Given the description of an element on the screen output the (x, y) to click on. 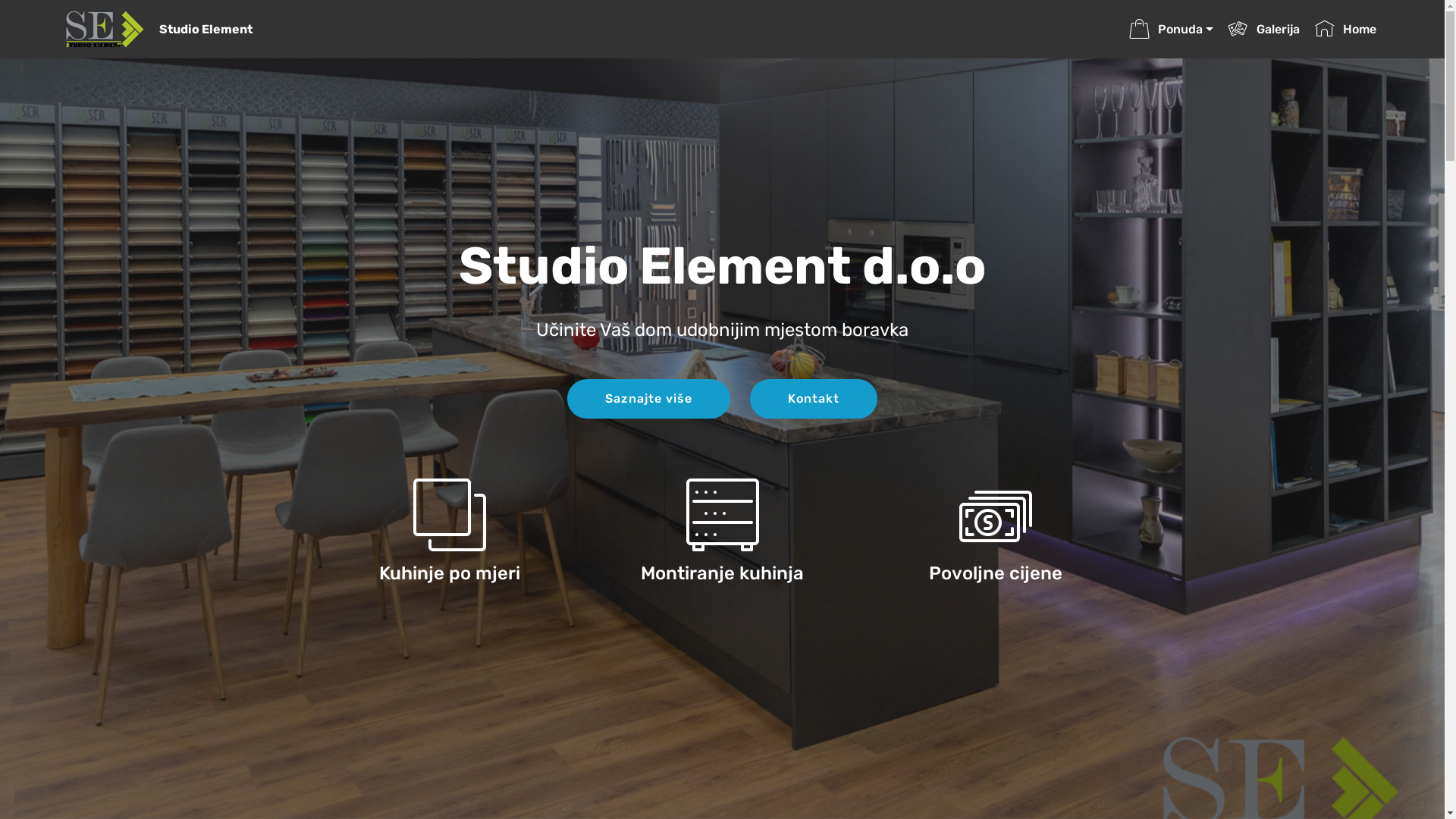
Studio Element Element type: text (217, 28)
Galerija Element type: text (1263, 28)
Galerija Element type: text (1109, 664)
Kontakt Element type: text (813, 398)
O nama Element type: text (1055, 664)
Home  Element type: text (1006, 664)
Home Element type: text (1344, 28)
Ponuda Element type: text (1170, 28)
